Given the description of an element on the screen output the (x, y) to click on. 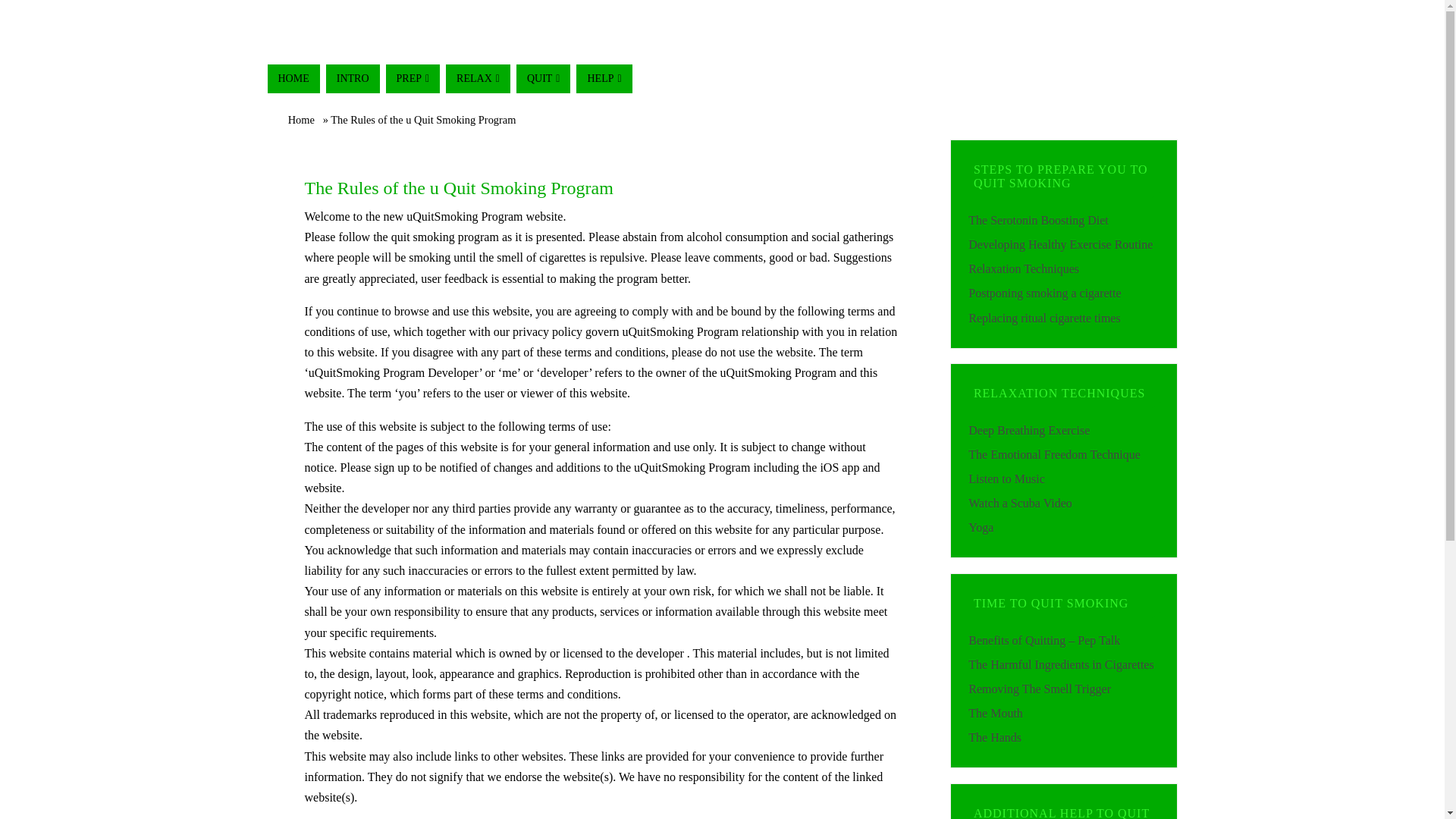
HELP (603, 78)
RELAX (478, 78)
The Serotonin Boosting Diet (1038, 219)
Replacing ritual cigarette times (1043, 318)
Home (301, 119)
Postponing smoking a cigarette (1044, 292)
INTRO (353, 78)
Developing Healthy Exercise Routine (1060, 244)
Relaxation Techniques (1023, 268)
PREP (413, 78)
QUIT (543, 78)
HOME (292, 78)
